Given the description of an element on the screen output the (x, y) to click on. 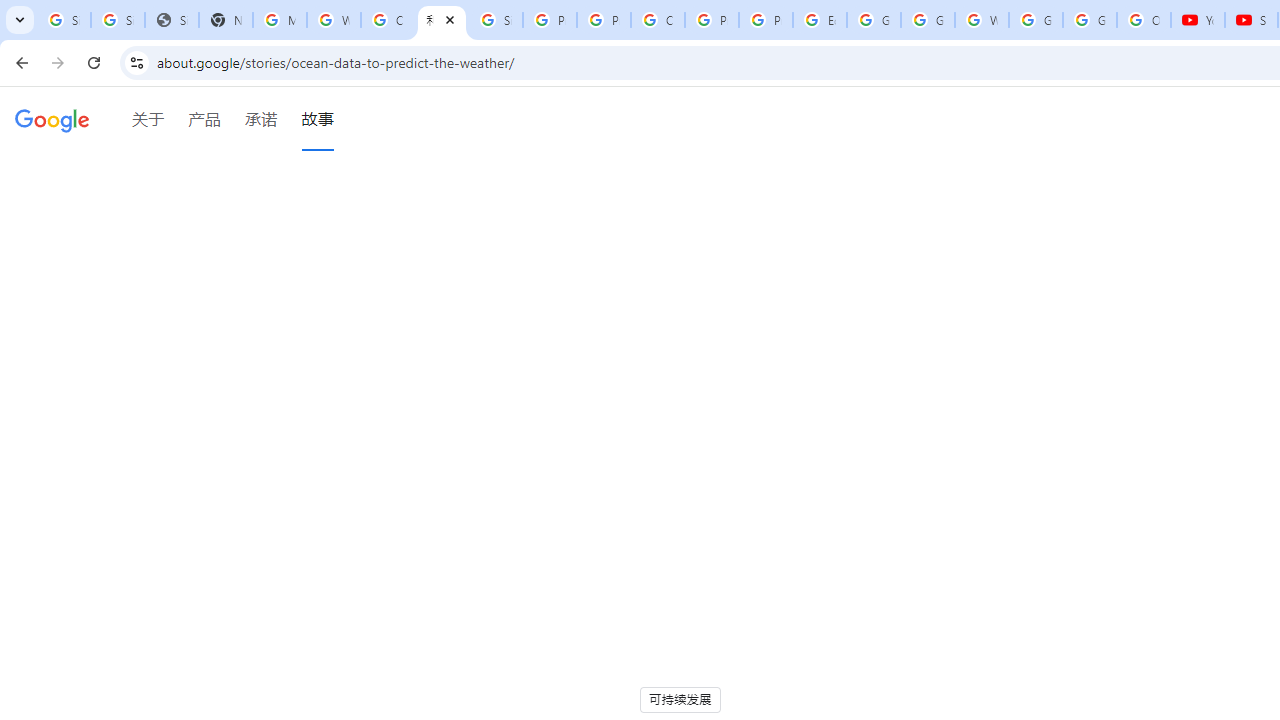
Google Account (1089, 20)
